Given the description of an element on the screen output the (x, y) to click on. 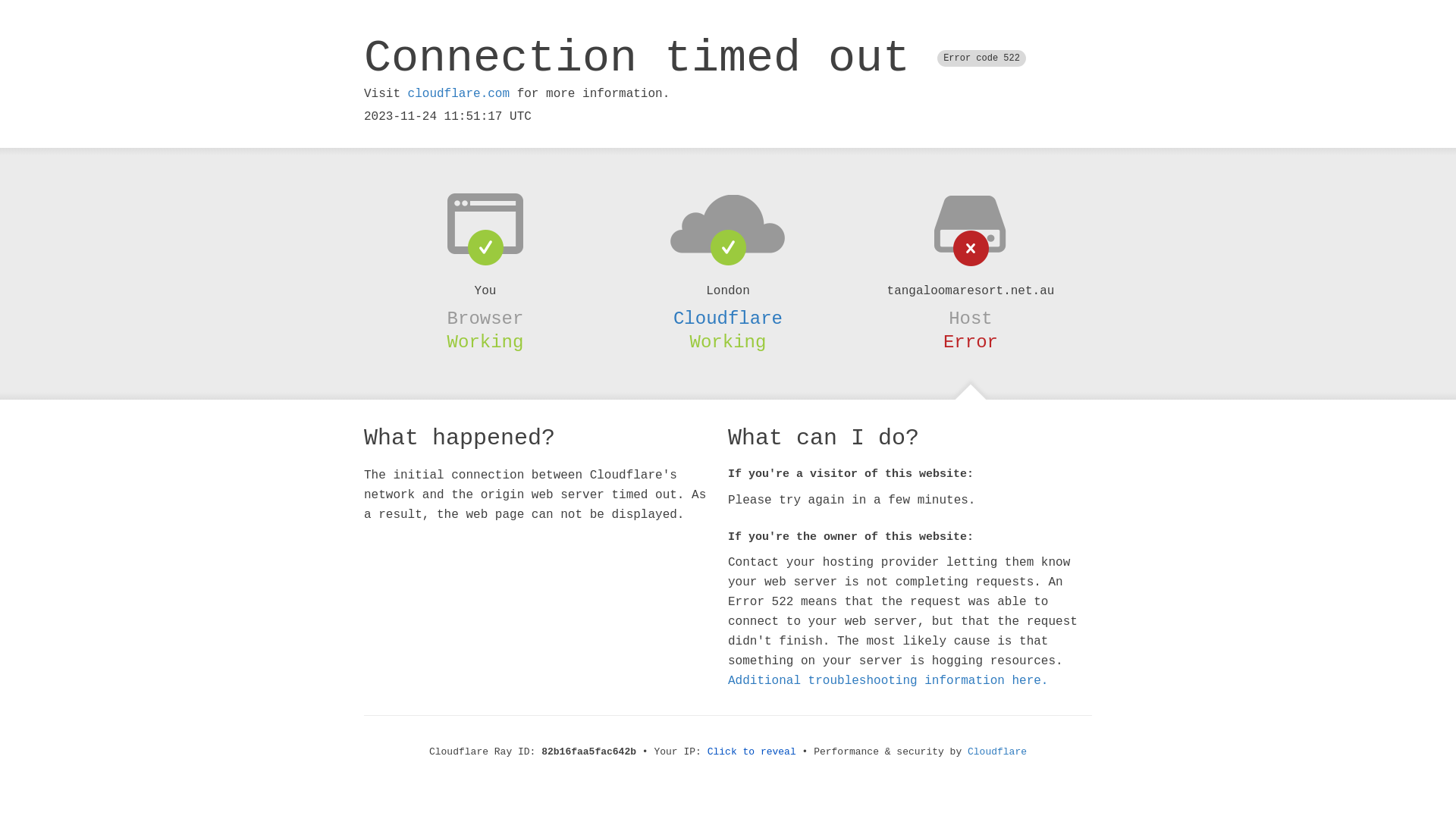
cloudflare.com Element type: text (458, 93)
Additional troubleshooting information here. Element type: text (888, 680)
Cloudflare Element type: text (727, 318)
Cloudflare Element type: text (996, 751)
Click to reveal Element type: text (751, 751)
